Given the description of an element on the screen output the (x, y) to click on. 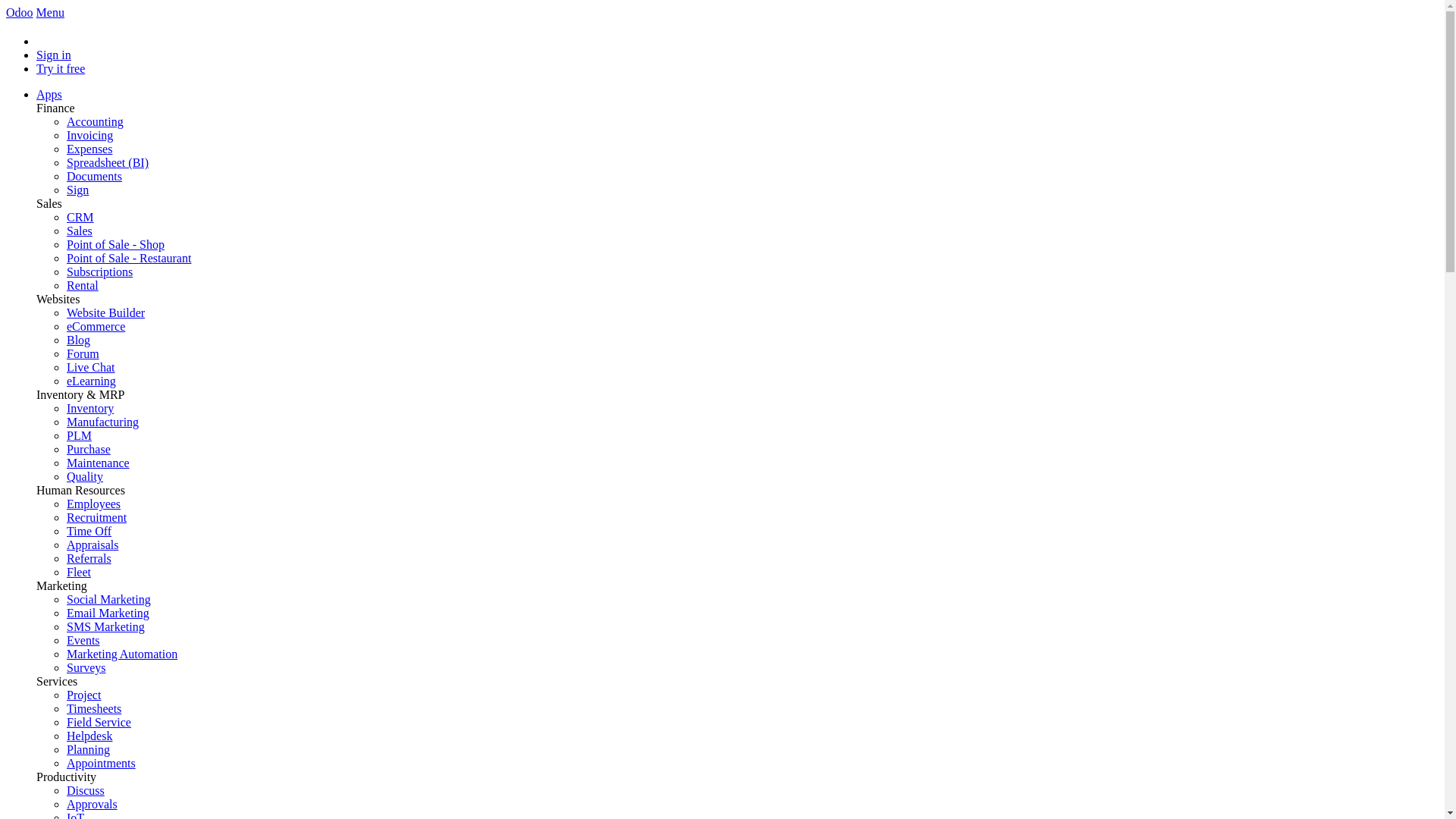
Expenses Element type: text (89, 148)
Timesheets Element type: text (93, 708)
Sales Element type: text (79, 230)
PLM Element type: text (78, 435)
Forum Element type: text (82, 353)
Try it free Element type: text (60, 68)
Apps Element type: text (49, 93)
Employees Element type: text (93, 503)
Quality Element type: text (84, 476)
Point of Sale - Shop Element type: text (115, 244)
Invoicing Element type: text (89, 134)
Email Marketing Element type: text (107, 612)
Approvals Element type: text (91, 803)
Social Marketing Element type: text (108, 599)
Appraisals Element type: text (92, 544)
Surveys Element type: text (86, 667)
eLearning Element type: text (91, 380)
Discuss Element type: text (85, 790)
Sign in Element type: text (53, 54)
Live Chat Element type: text (90, 366)
Maintenance Element type: text (97, 462)
Referrals Element type: text (88, 558)
Subscriptions Element type: text (99, 271)
Odoo Element type: text (19, 12)
Fleet Element type: text (78, 571)
Purchase Element type: text (88, 448)
Rental Element type: text (82, 285)
Spreadsheet (BI) Element type: text (107, 162)
Marketing Automation Element type: text (121, 653)
Events Element type: text (83, 639)
Helpdesk Element type: text (89, 735)
CRM Element type: text (80, 216)
Menu Element type: text (50, 12)
Manufacturing Element type: text (102, 421)
Point of Sale - Restaurant Element type: text (128, 257)
Recruitment Element type: text (96, 517)
Appointments Element type: text (100, 762)
Inventory Element type: text (89, 407)
Sign Element type: text (77, 189)
Accounting Element type: text (94, 121)
Blog Element type: text (78, 339)
eCommerce Element type: text (95, 326)
Field Service Element type: text (98, 721)
Website Builder Element type: text (105, 312)
Project Element type: text (83, 694)
Planning Element type: text (87, 749)
Time Off Element type: text (88, 530)
Documents Element type: text (94, 175)
SMS Marketing Element type: text (105, 626)
